Given the description of an element on the screen output the (x, y) to click on. 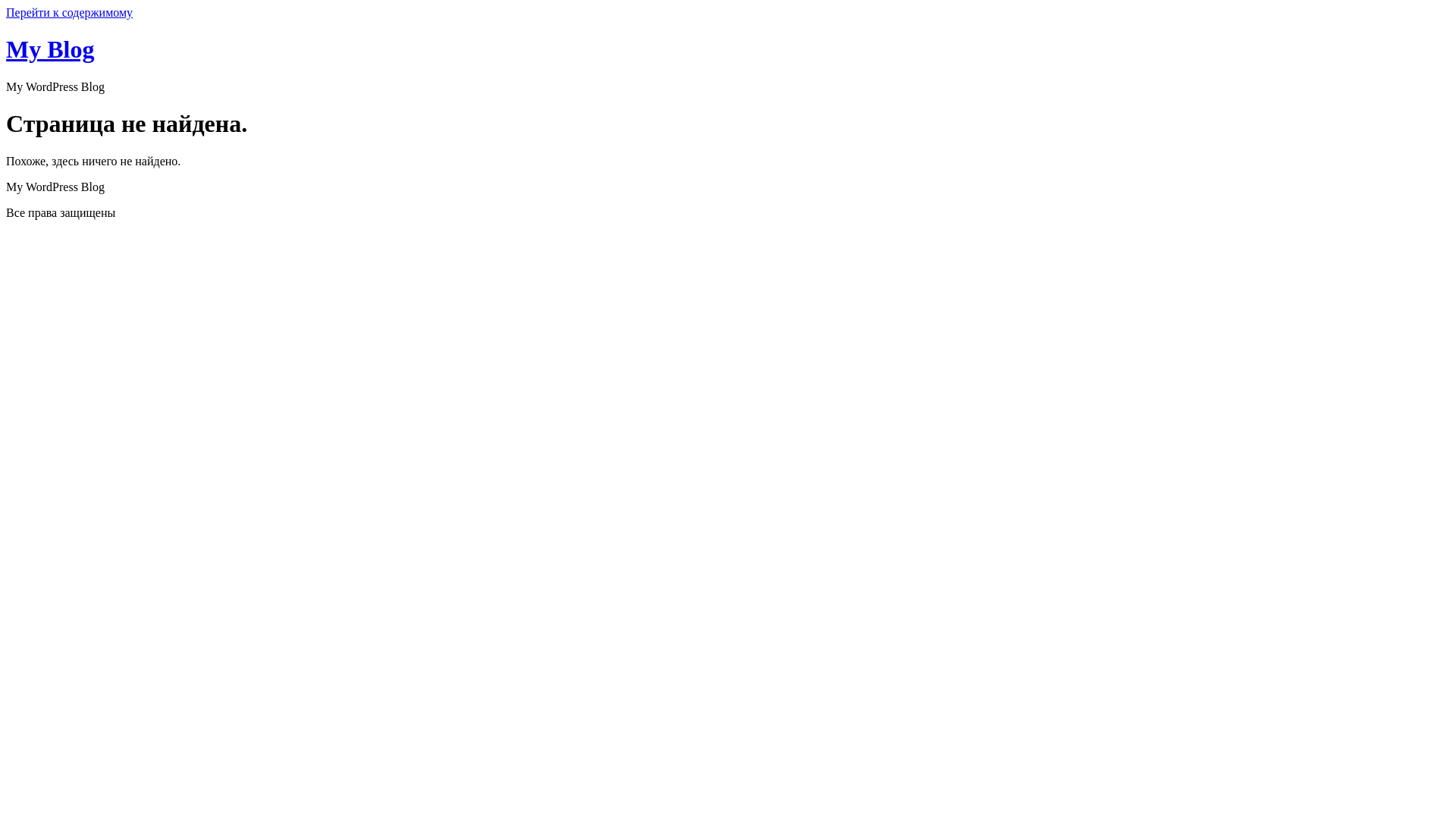
My Blog Element type: text (50, 48)
